Given the description of an element on the screen output the (x, y) to click on. 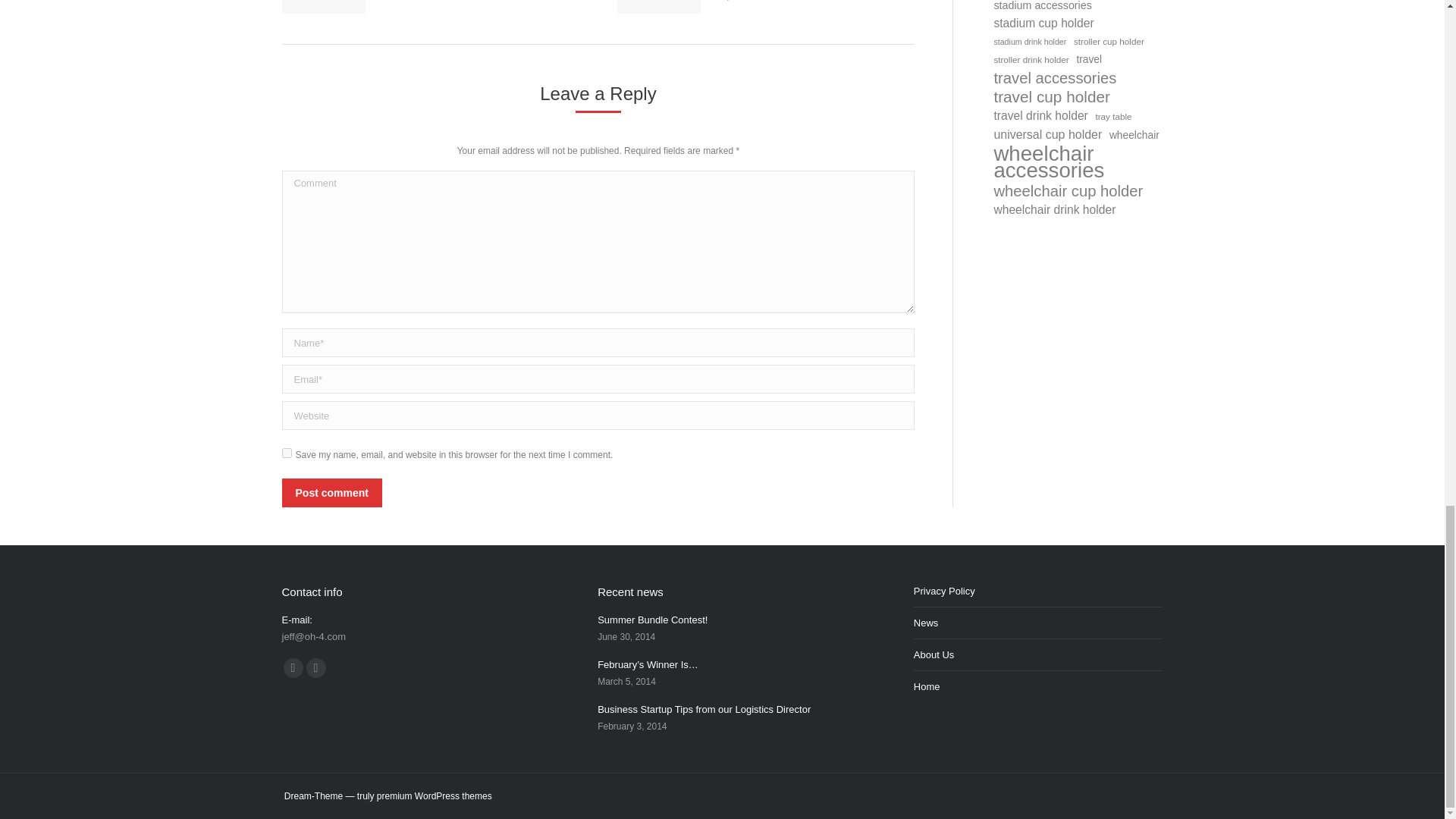
yes (287, 452)
